Given the description of an element on the screen output the (x, y) to click on. 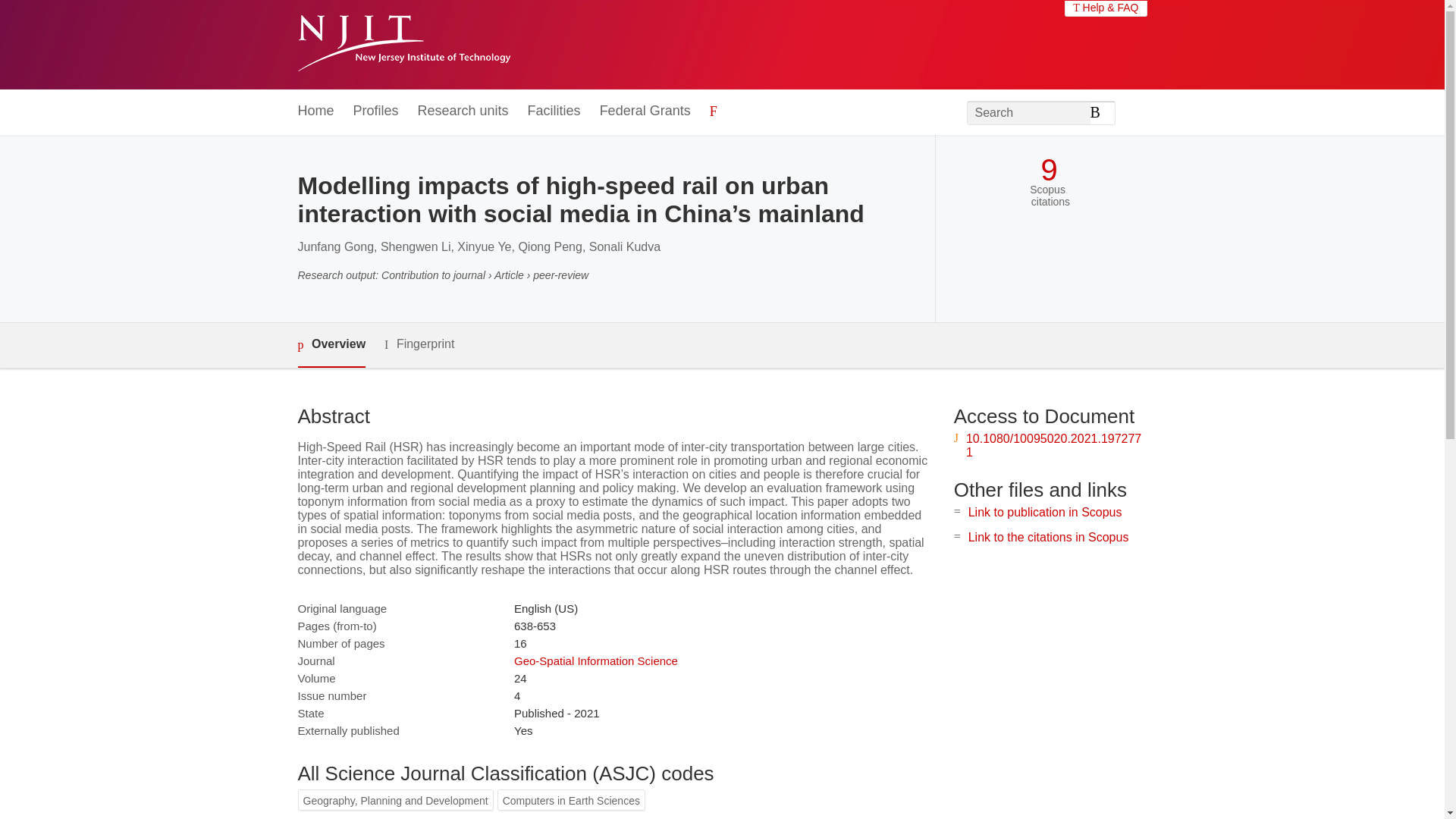
Overview (331, 344)
9 (1049, 170)
New Jersey Institute of Technology Home (403, 44)
Research units (462, 111)
Link to publication in Scopus (1045, 512)
Facilities (553, 111)
Federal Grants (644, 111)
Fingerprint (419, 344)
Profiles (375, 111)
Link to the citations in Scopus (1048, 536)
Home (315, 111)
Geo-Spatial Information Science (595, 660)
